Given the description of an element on the screen output the (x, y) to click on. 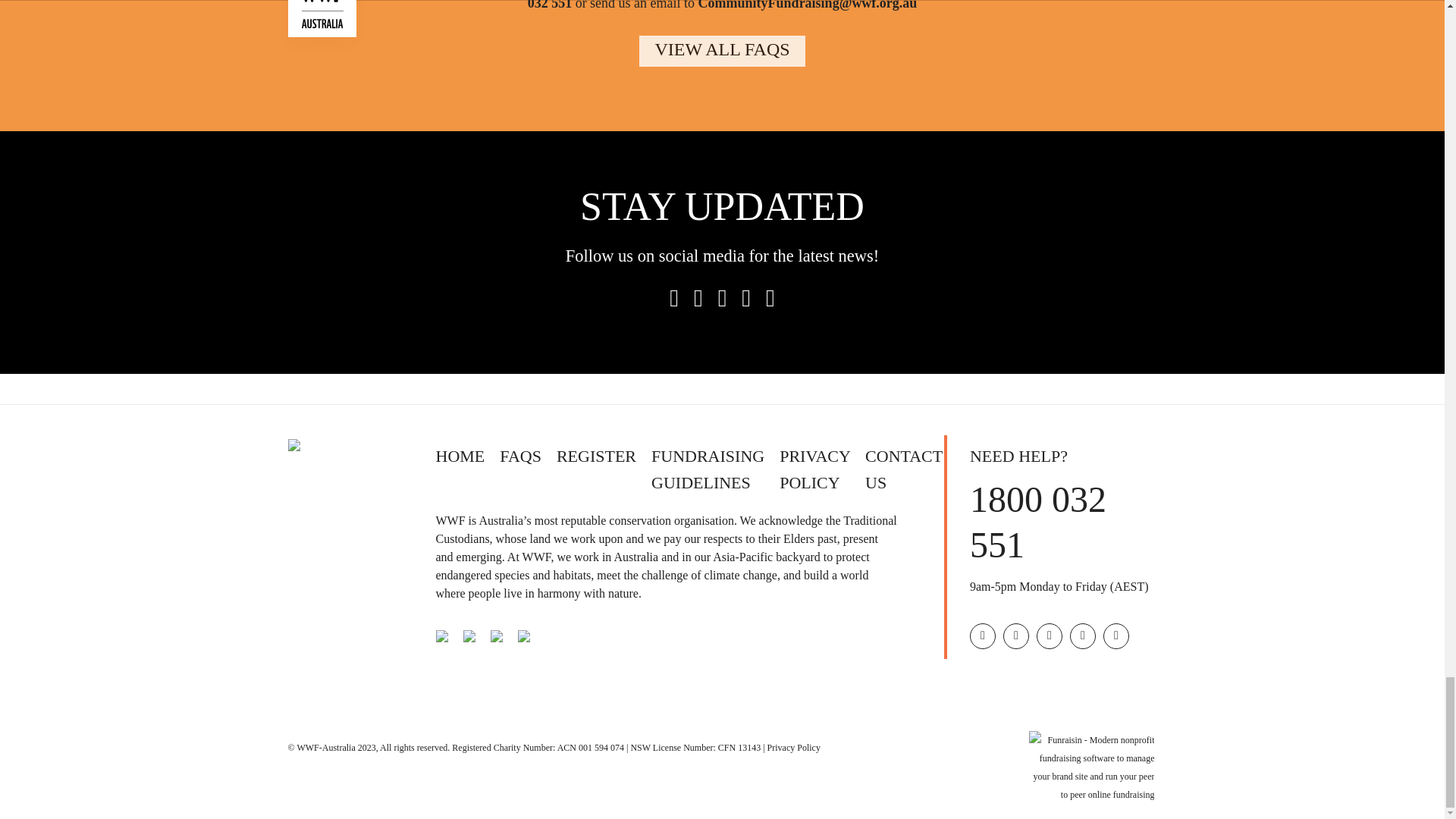
REGISTER (596, 456)
FAQS (520, 456)
PRIVACY POLICY (814, 469)
FUNDRAISING GUIDELINES (707, 469)
HOME (459, 456)
VIEW ALL FAQS (722, 51)
